Given the description of an element on the screen output the (x, y) to click on. 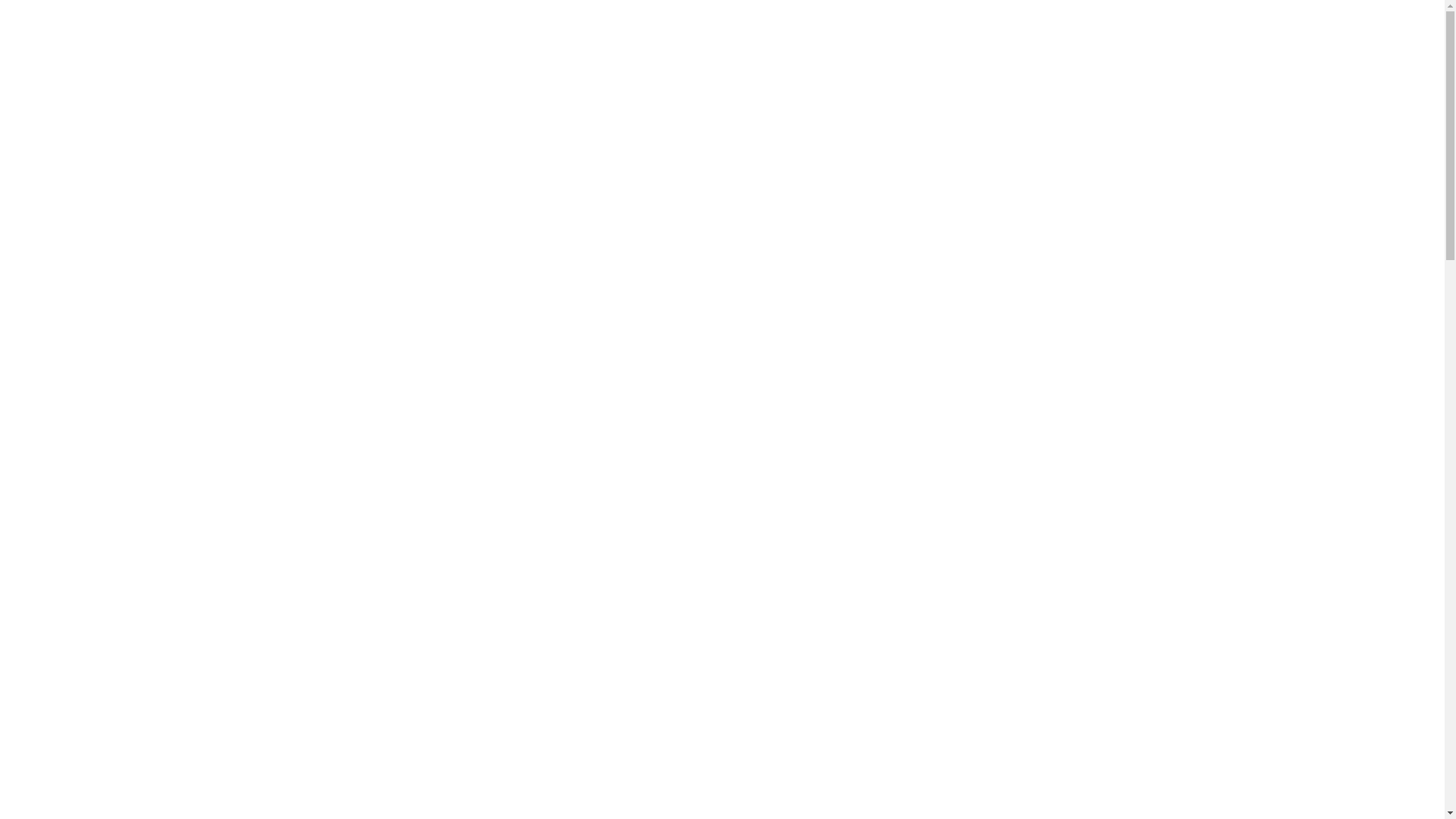
Verein Element type: text (46, 267)
EHC Buchs Northstars Element type: text (100, 239)
Kontakt Element type: text (49, 281)
Willkommen Element type: text (62, 253)
Furttaler - Freitag 23. Dezember 2022 Nr. 51 - 12.pdf Element type: text (129, 545)
ahoi-hill.ch Element type: text (1349, 410)
Intern Element type: text (52, 297)
Trainingslager Engelberg 2023 Element type: text (1226, 436)
watterfaescht.ch Element type: text (1275, 410)
